Given the description of an element on the screen output the (x, y) to click on. 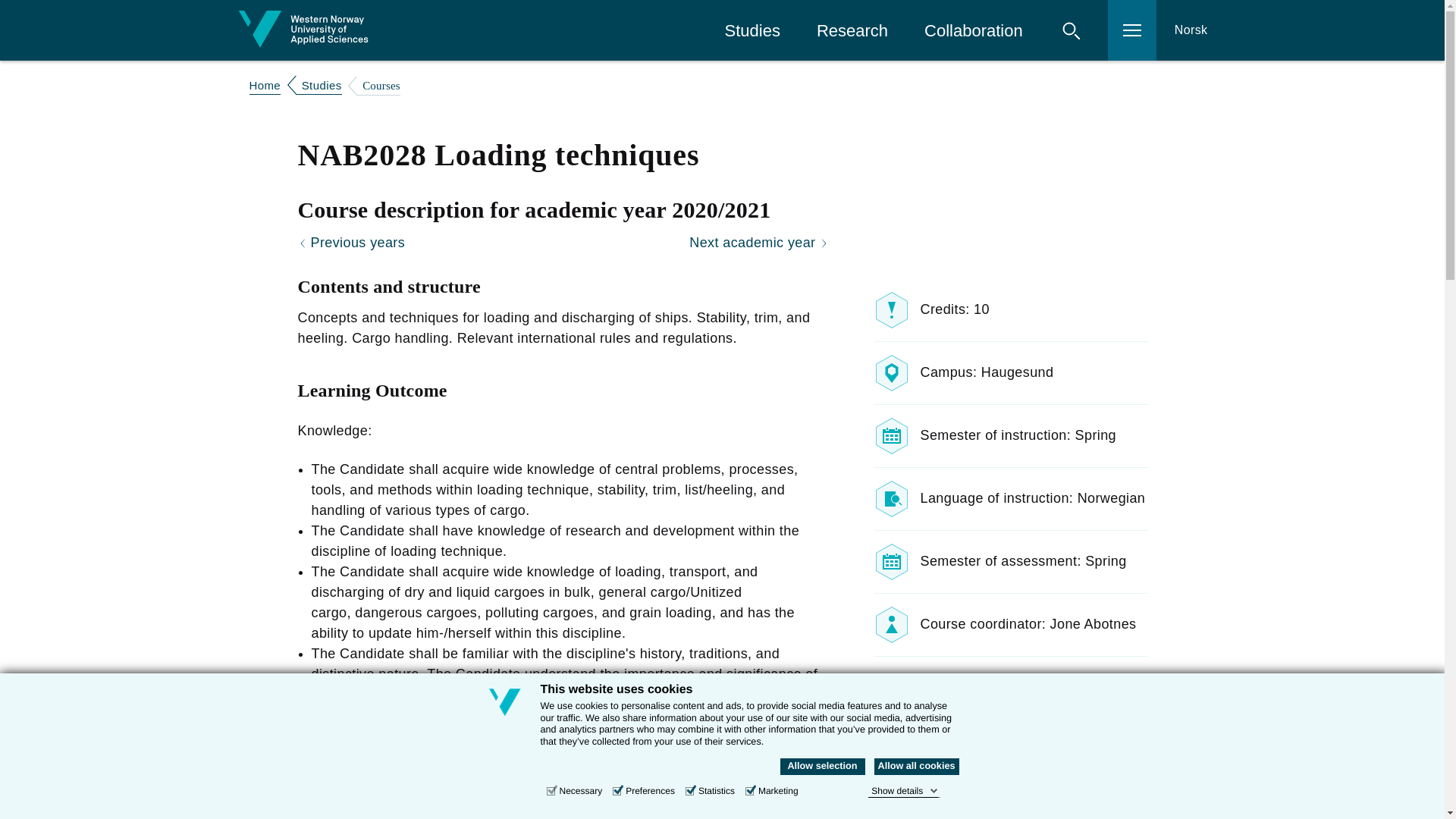
Allow all cookies (915, 766)
Allow selection (821, 766)
Show details (903, 790)
